Given the description of an element on the screen output the (x, y) to click on. 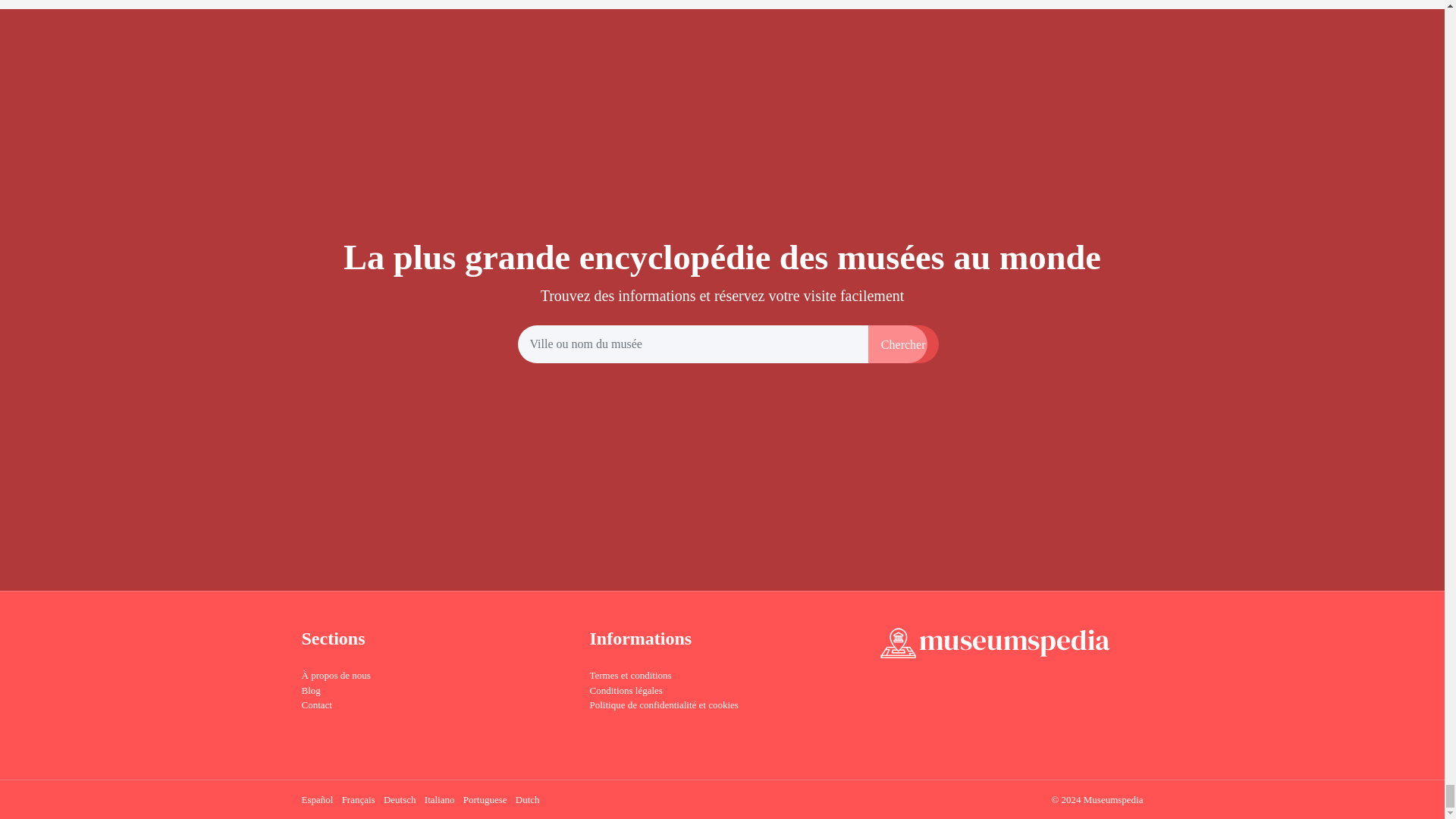
Blog (310, 690)
Contact (316, 704)
Termes et conditions (630, 674)
Chercher (903, 344)
